Given the description of an element on the screen output the (x, y) to click on. 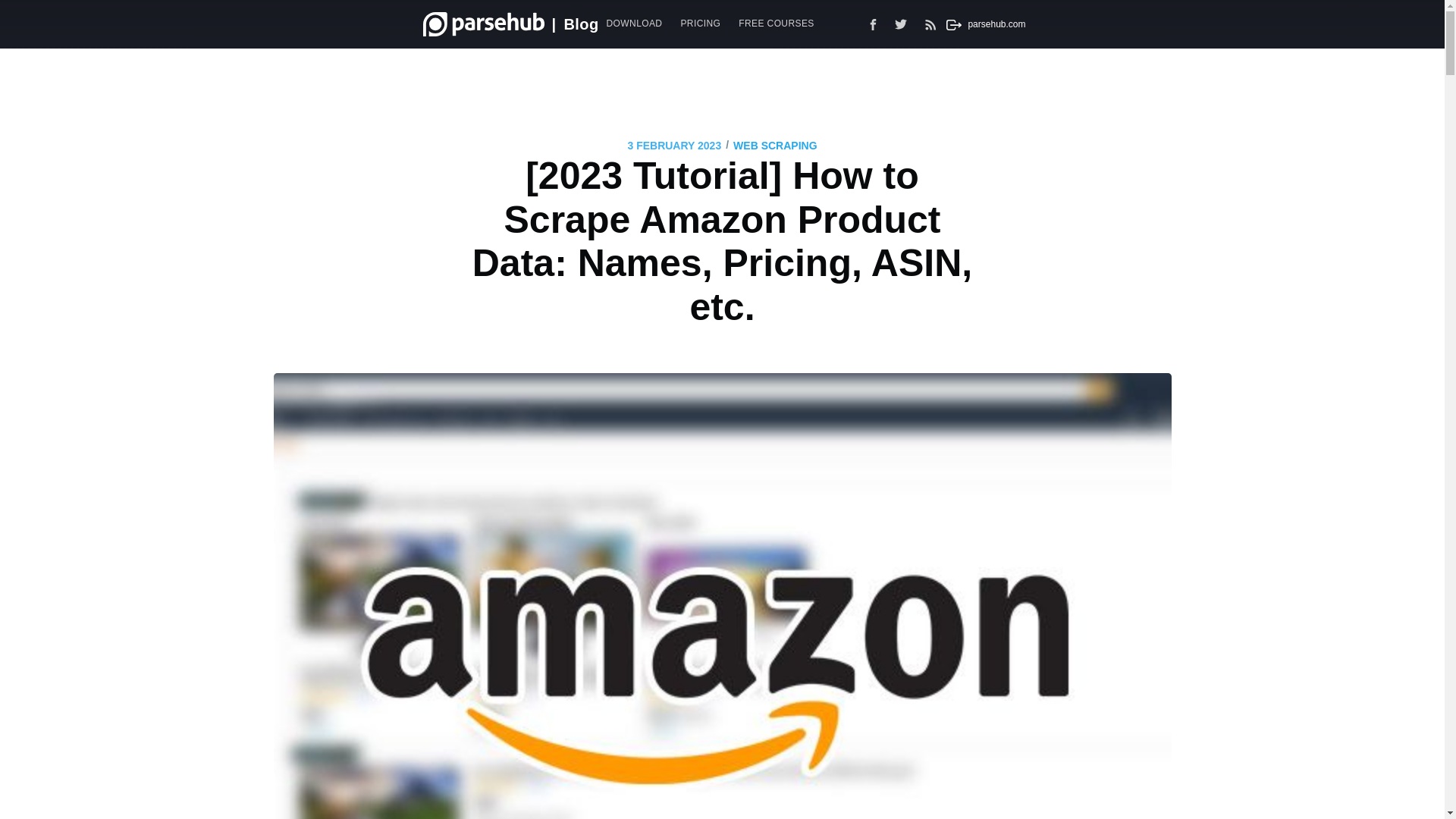
Twitter (904, 23)
parsehub.com (983, 24)
WEB SCRAPING (774, 145)
DOWNLOAD (633, 23)
FREE COURSES (775, 23)
Facebook (873, 23)
PRICING (700, 23)
